Given the description of an element on the screen output the (x, y) to click on. 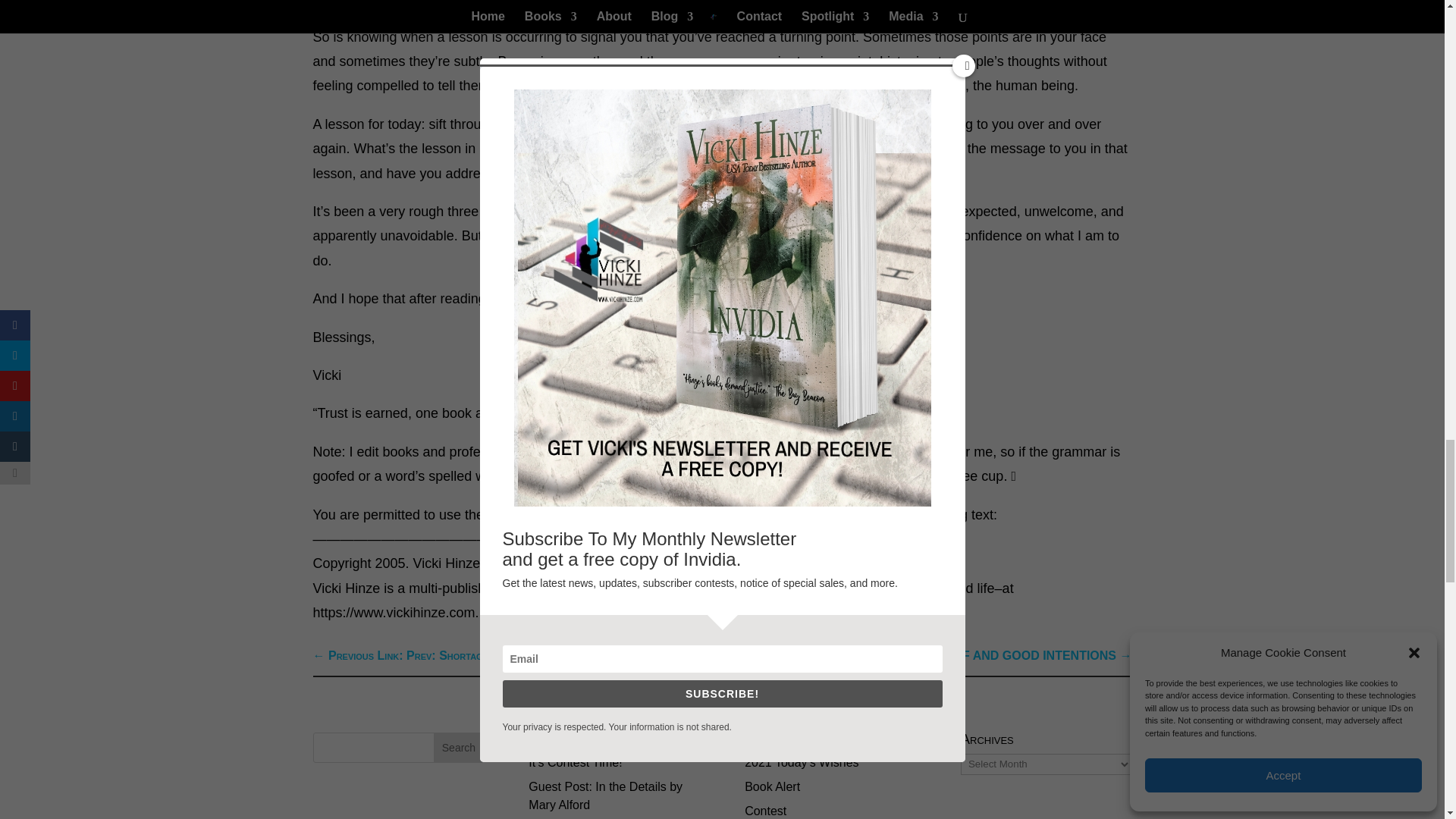
Search (458, 747)
